Given the description of an element on the screen output the (x, y) to click on. 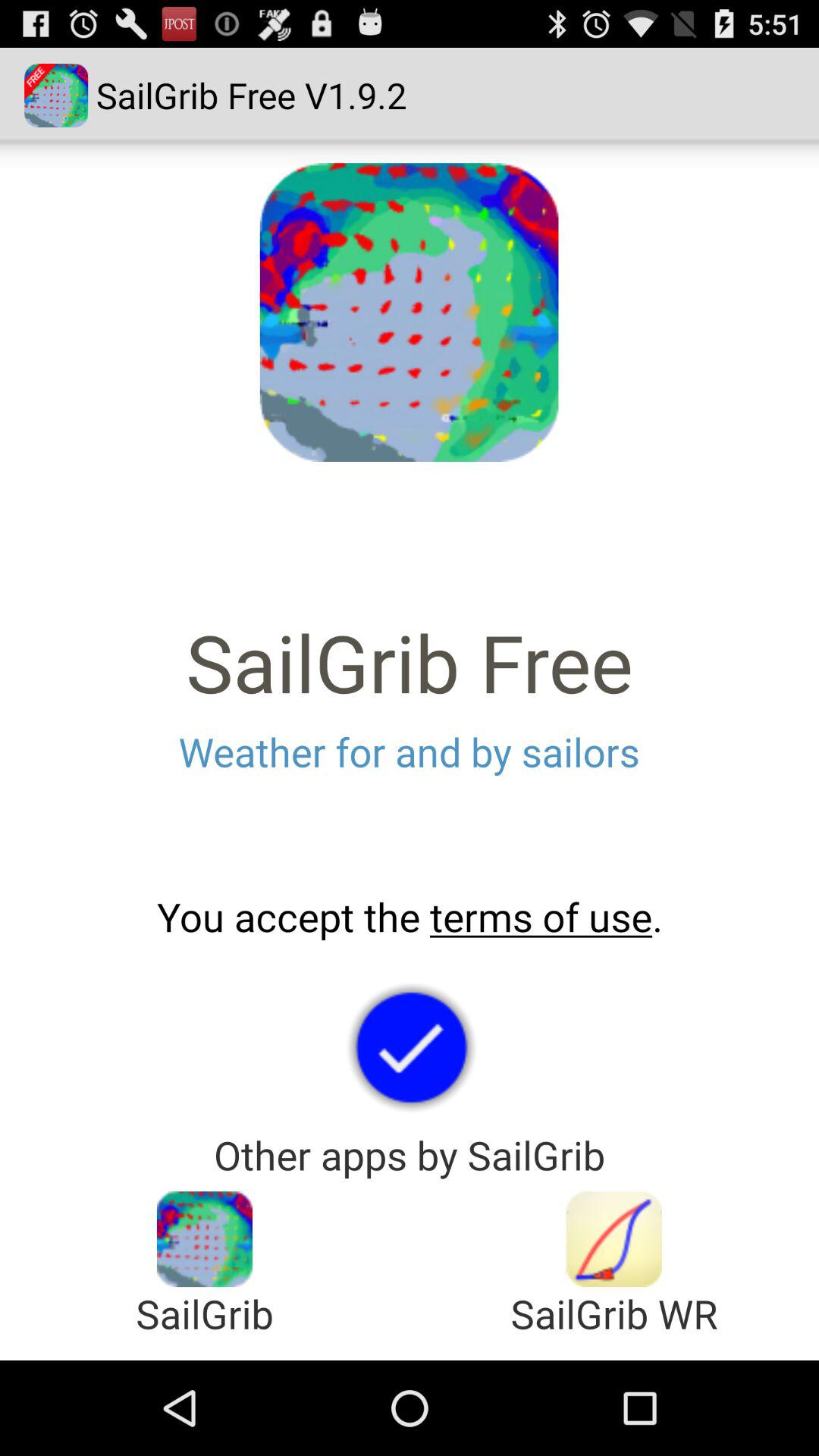
go to other app (614, 1239)
